Given the description of an element on the screen output the (x, y) to click on. 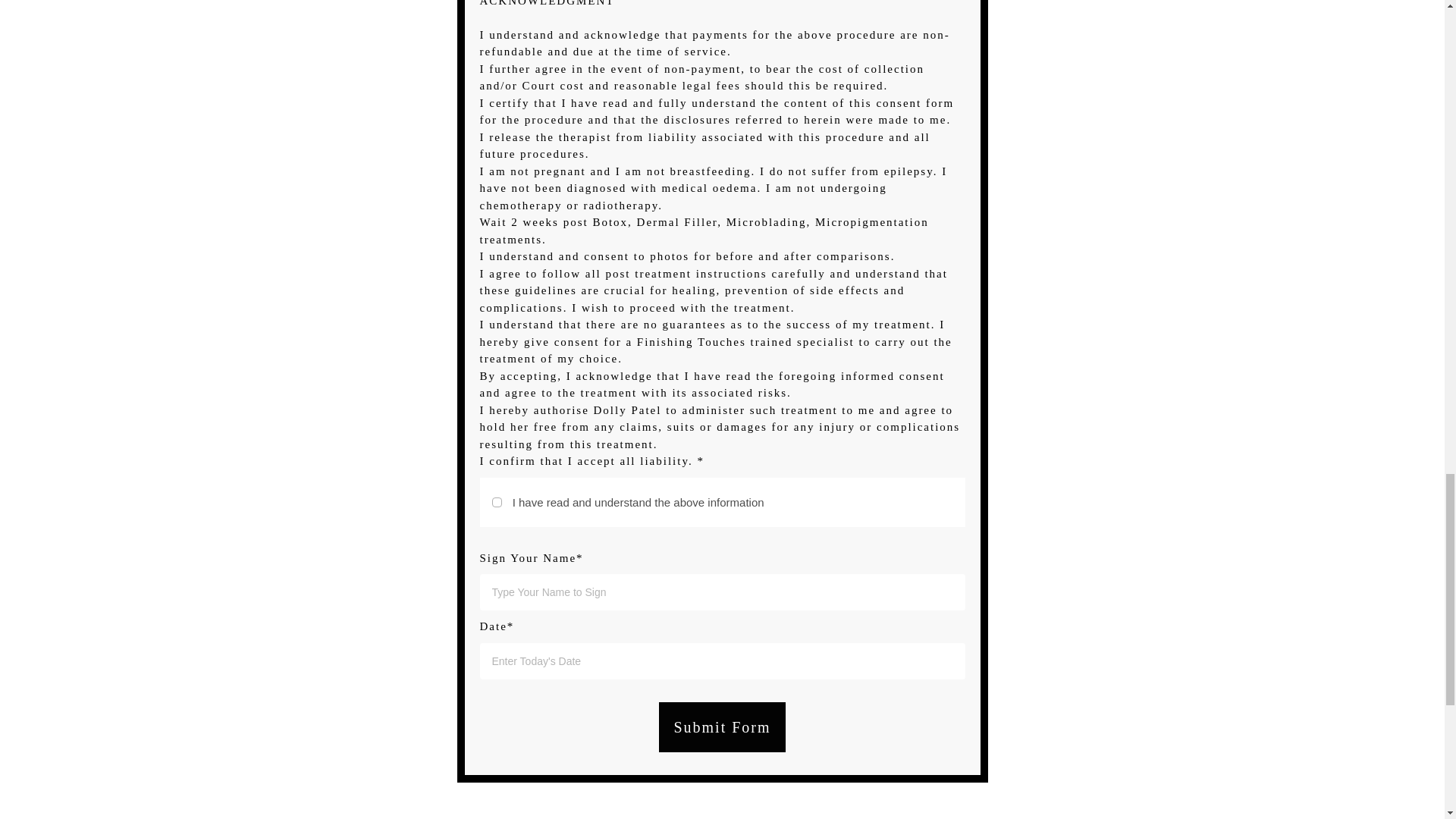
Submit Form (721, 726)
